Given the description of an element on the screen output the (x, y) to click on. 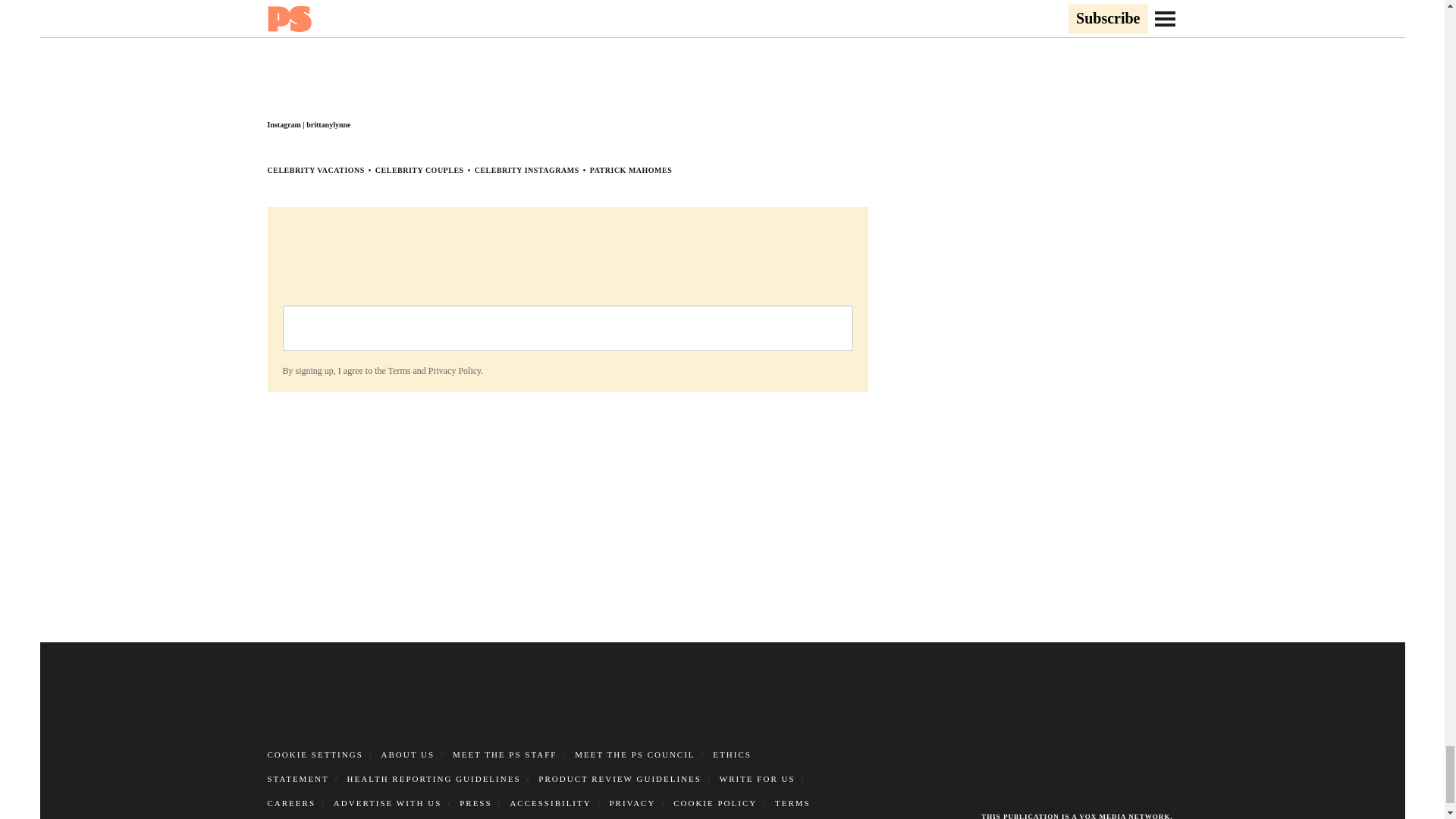
CELEBRITY INSTAGRAMS (526, 170)
Terms (399, 370)
PATRICK MAHOMES (630, 170)
CELEBRITY VACATIONS (315, 170)
Privacy Policy. (455, 370)
CELEBRITY COUPLES (419, 170)
